Given the description of an element on the screen output the (x, y) to click on. 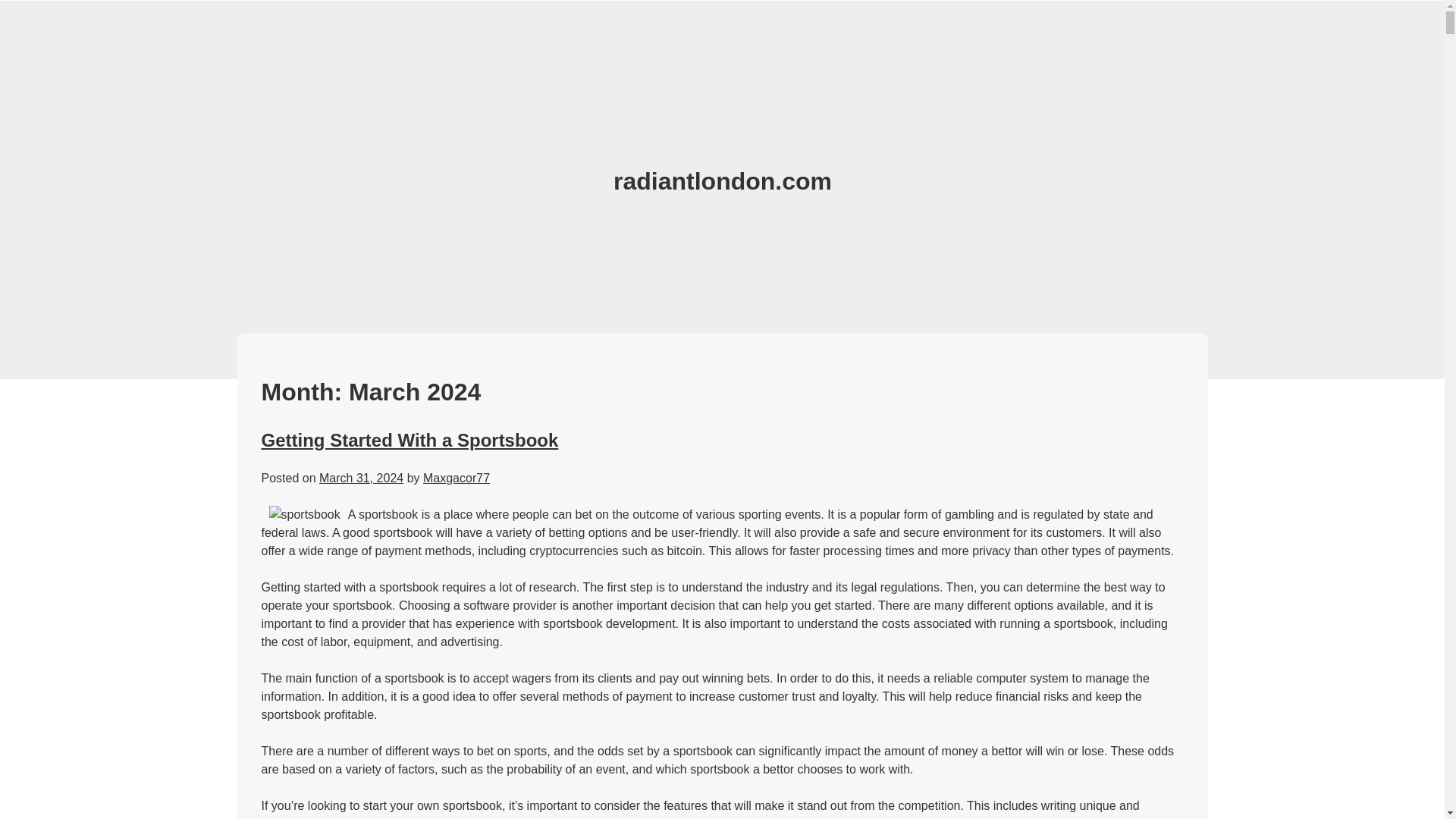
Getting Started With a Sportsbook (408, 439)
March 31, 2024 (360, 477)
Maxgacor77 (456, 477)
